Given the description of an element on the screen output the (x, y) to click on. 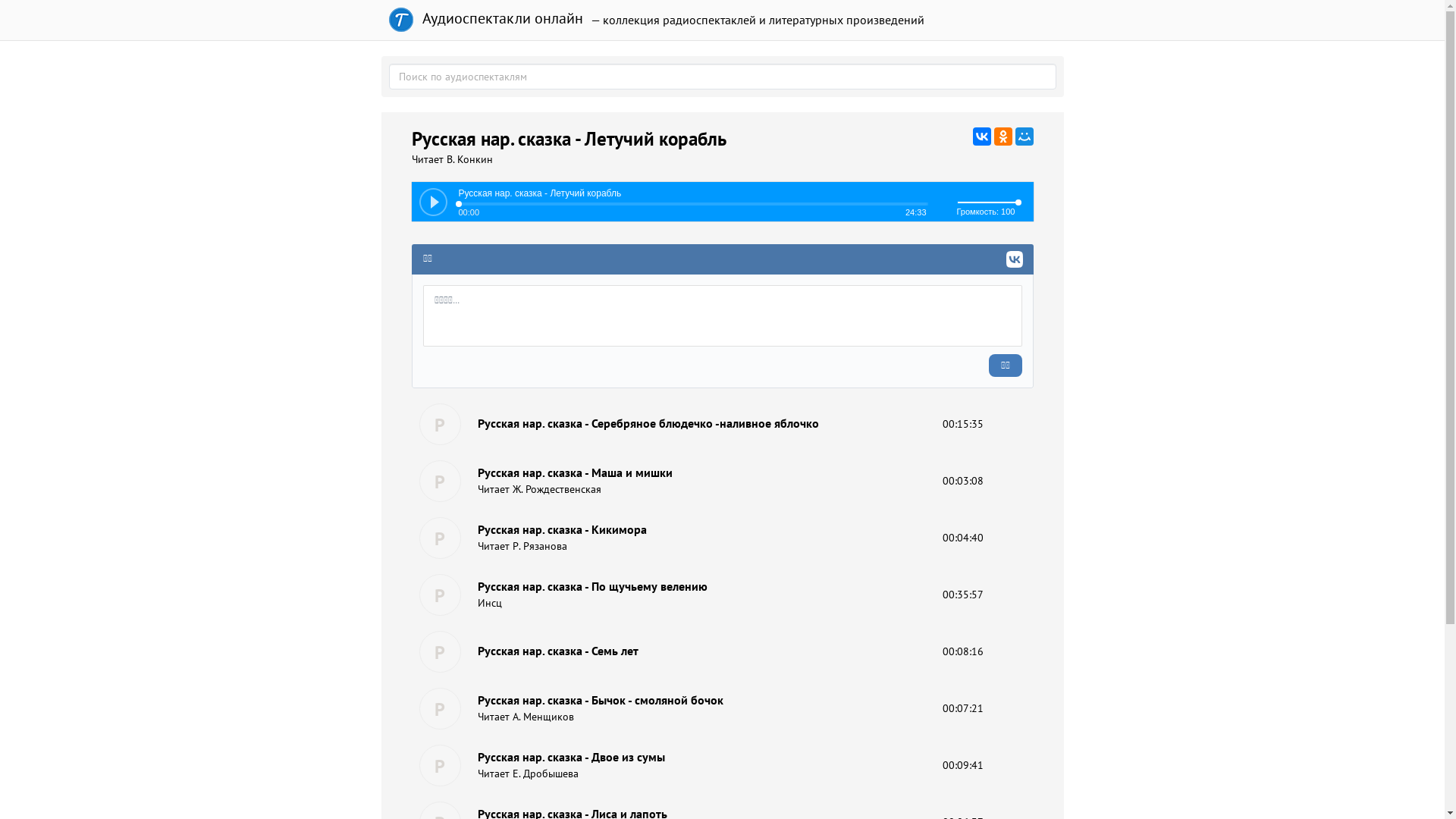
00:03:08 Element type: text (962, 480)
00:35:57 Element type: text (962, 594)
00:15:35 Element type: text (962, 423)
00:04:40 Element type: text (962, 537)
00:09:41 Element type: text (962, 764)
00:08:16 Element type: text (962, 651)
00:07:21 Element type: text (962, 708)
